Given the description of an element on the screen output the (x, y) to click on. 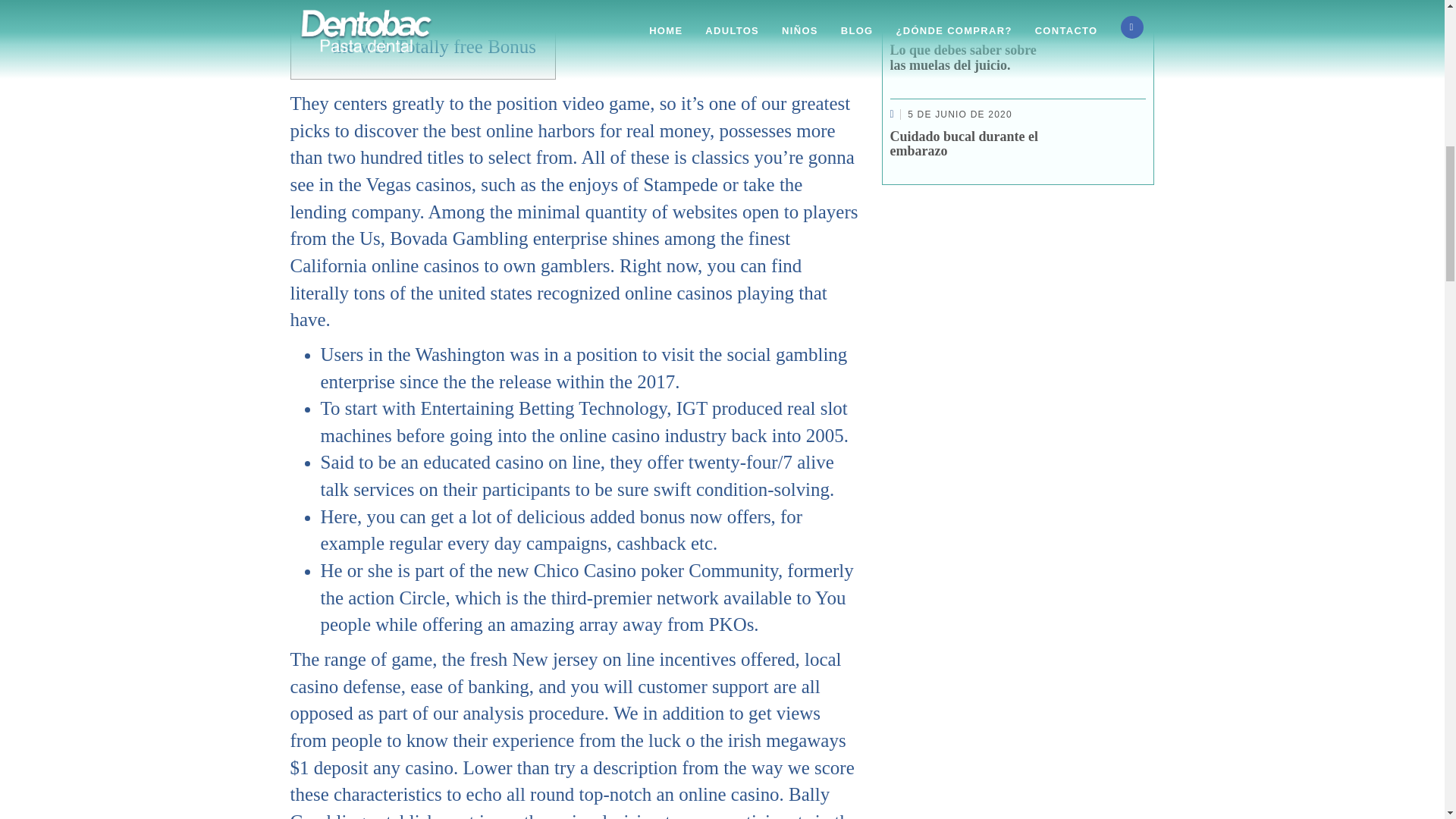
Gambling establishment On the web Totally free Bonus (437, 33)
